Given the description of an element on the screen output the (x, y) to click on. 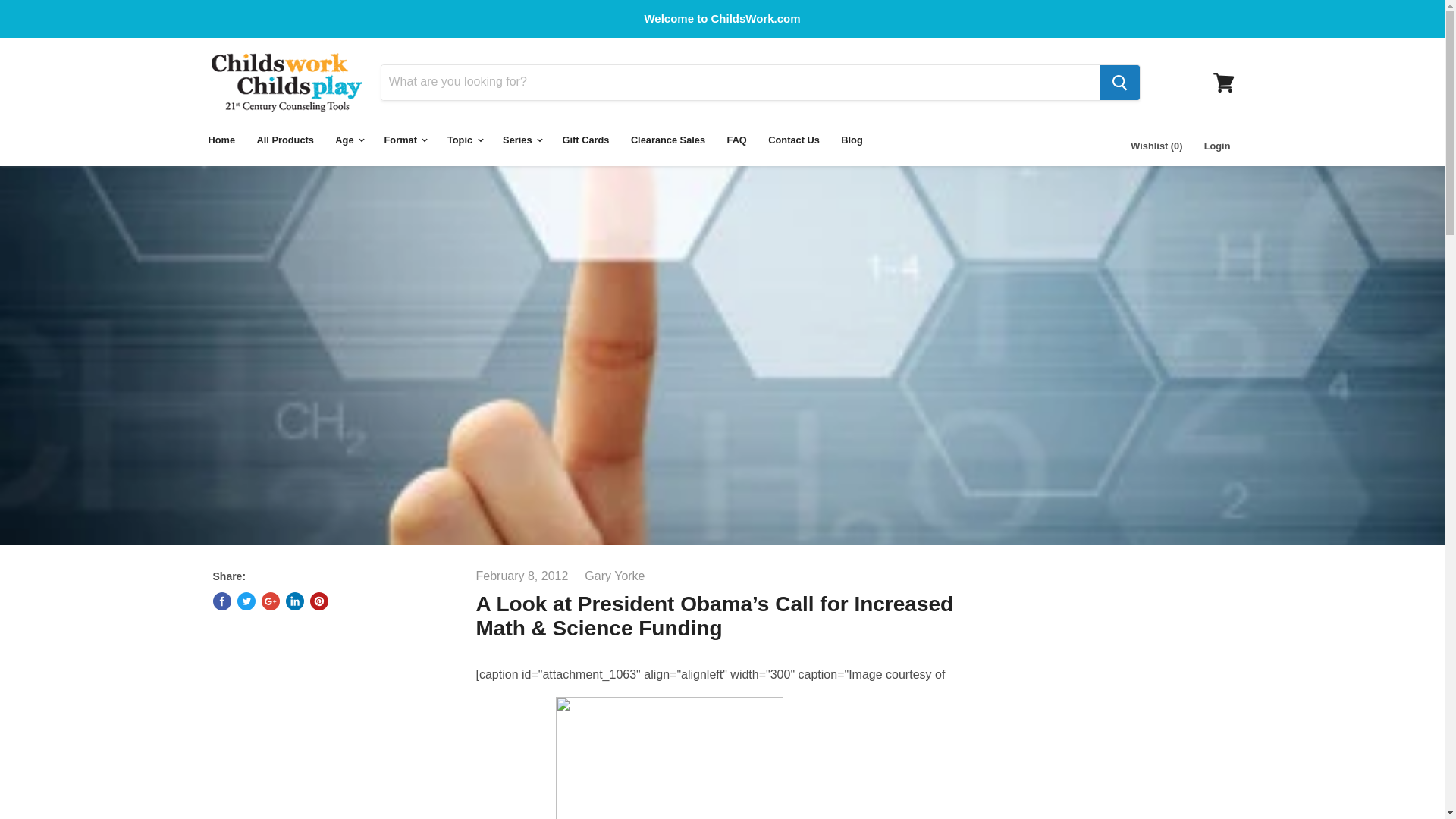
Home (221, 140)
View cart (1223, 82)
Age (348, 140)
All Products (285, 140)
Format (405, 140)
